Given the description of an element on the screen output the (x, y) to click on. 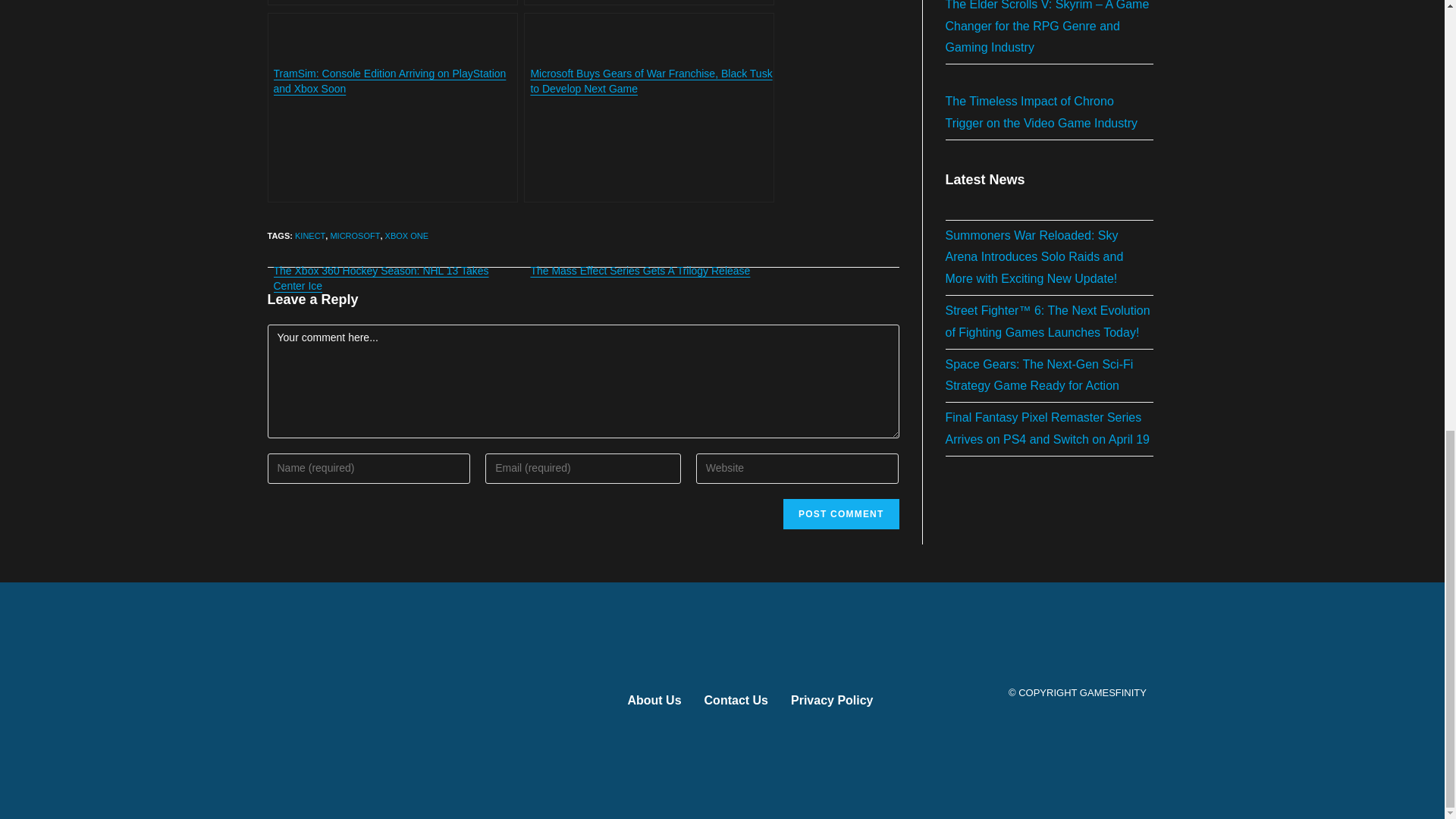
The Mass Effect Series Gets A Trilogy Release (649, 107)
Post Comment (840, 513)
MICROSOFT (355, 235)
The Mass Effect Series Gets A Trilogy Release (649, 107)
The Xbox 360 Hockey Season: NHL 13 Takes Center Ice (391, 107)
XBOX ONE (406, 235)
